Given the description of an element on the screen output the (x, y) to click on. 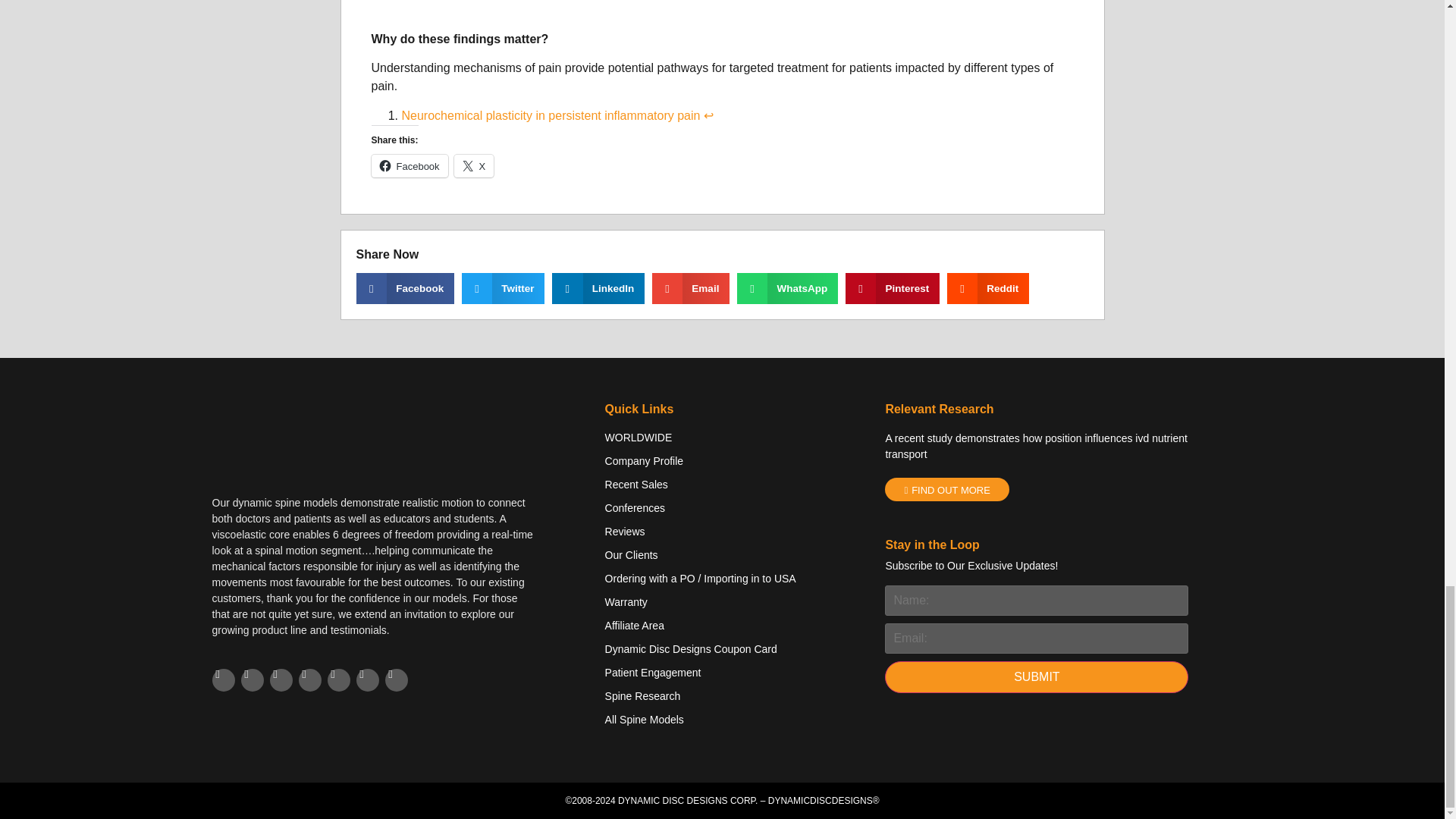
Click to share on X (474, 165)
Submit (1036, 676)
Click to share on Facebook (409, 165)
